Given the description of an element on the screen output the (x, y) to click on. 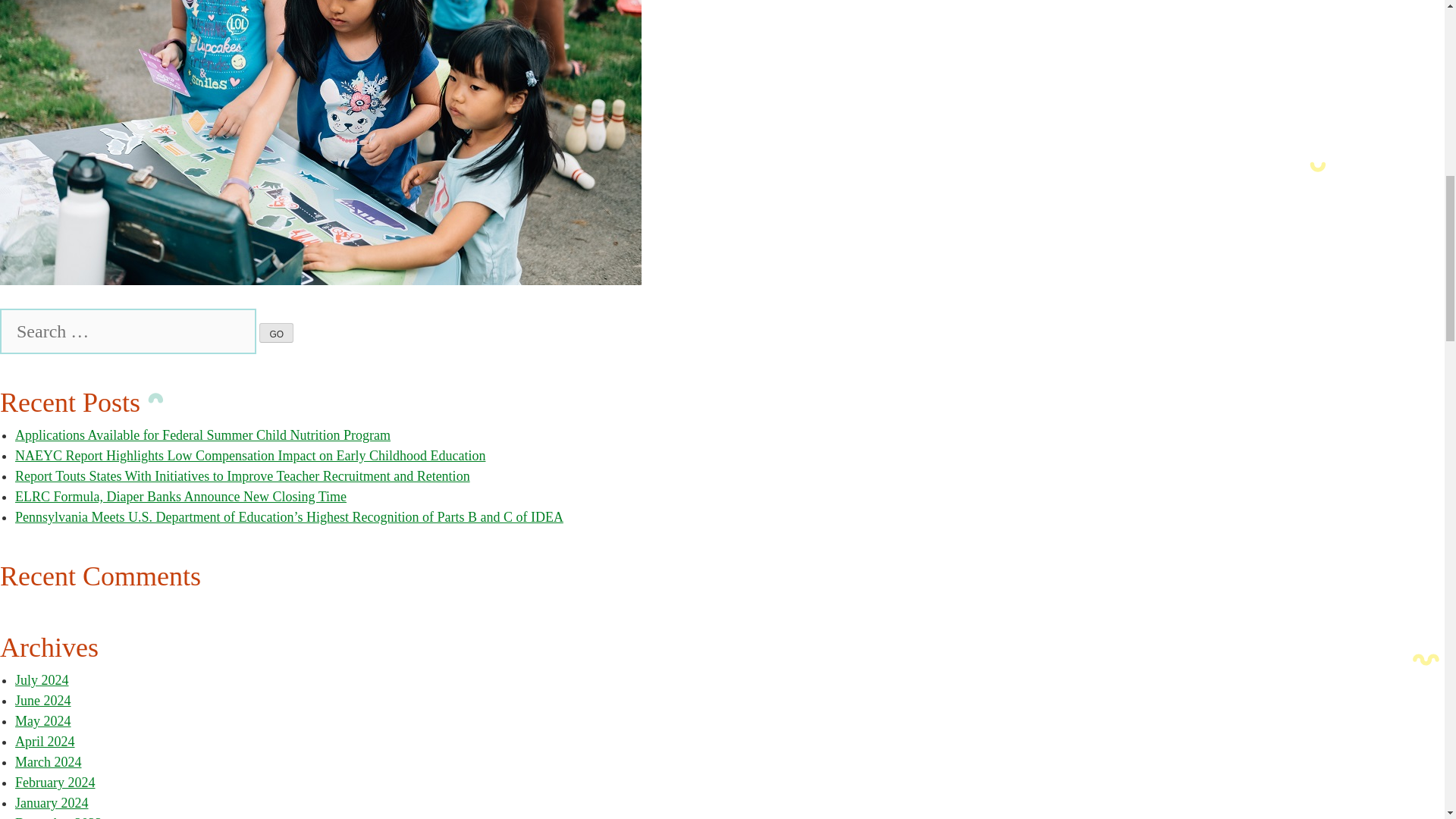
GO (276, 332)
GO (276, 332)
